Given the description of an element on the screen output the (x, y) to click on. 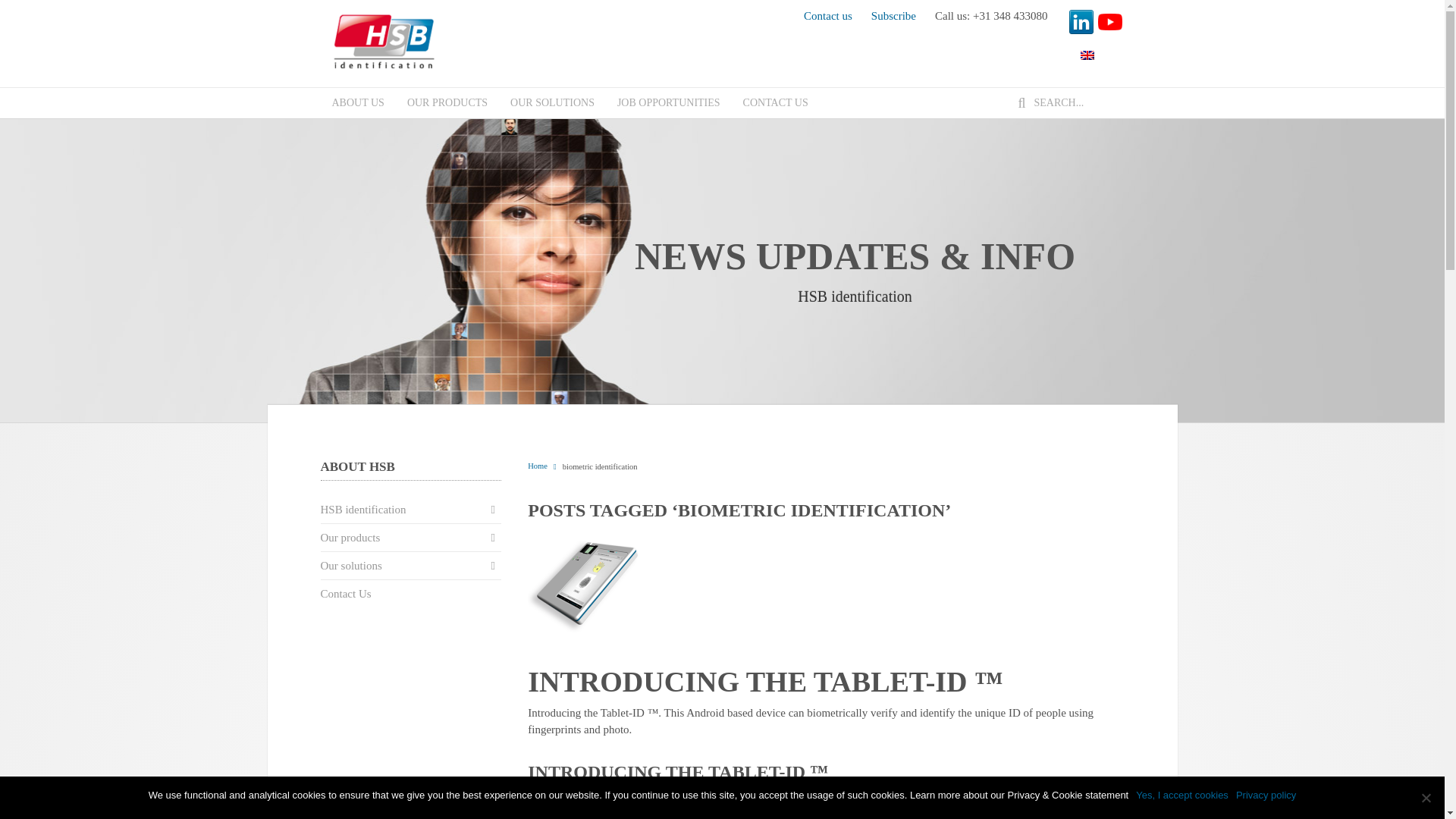
Home (537, 466)
HSB identification (386, 43)
CONTACT US (775, 102)
Subscribe (892, 15)
HSB identification (854, 296)
JOB OPPORTUNITIES (668, 102)
OUR SOLUTIONS (552, 102)
linkedin (1080, 21)
OUR PRODUCTS (447, 102)
ABOUT US (357, 102)
youtube (1109, 21)
Contact us (827, 15)
Subscribe to HSB news (892, 15)
